Given the description of an element on the screen output the (x, y) to click on. 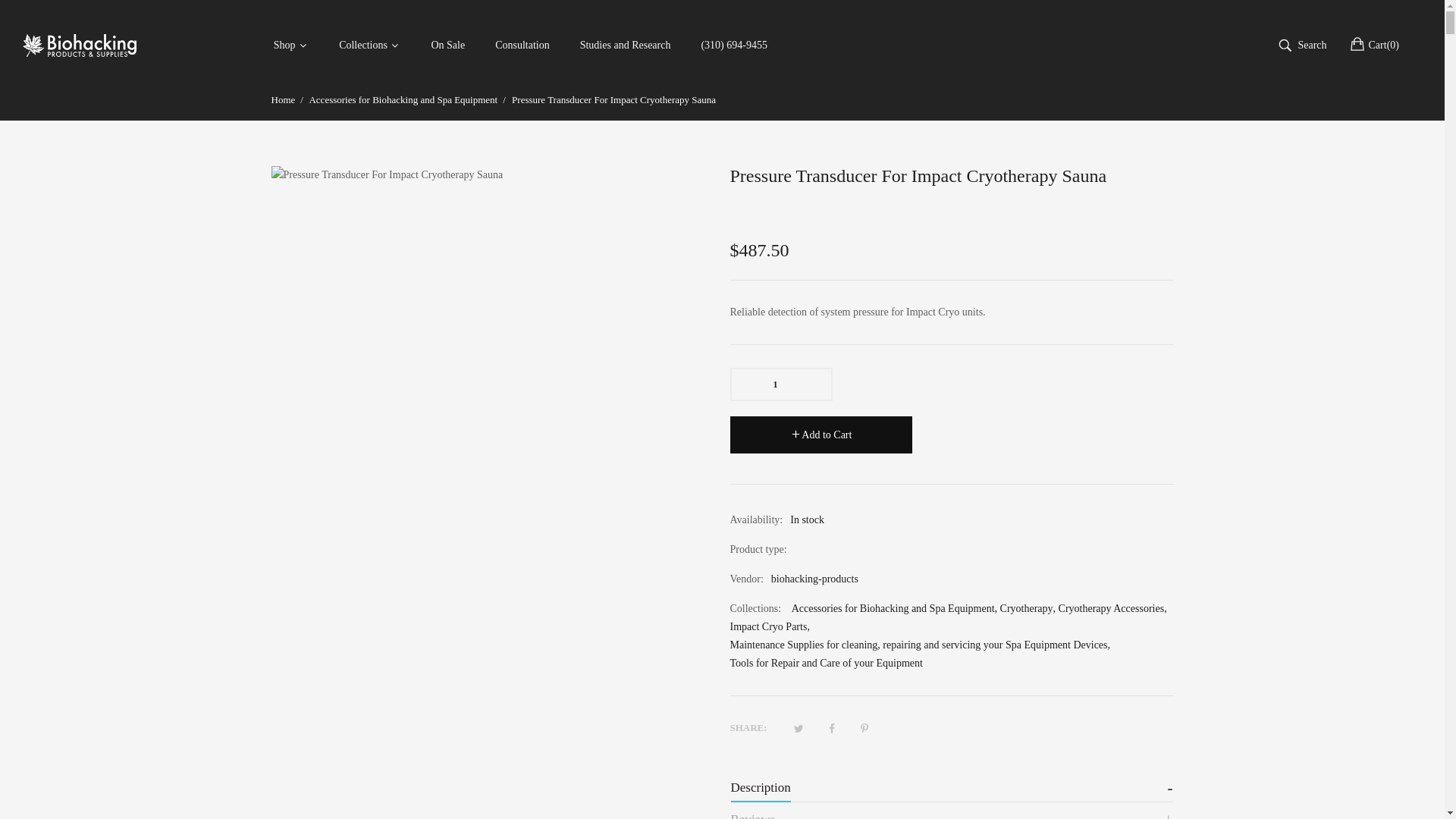
biohacking-products (79, 45)
Shop (290, 44)
1 (780, 384)
